Given the description of an element on the screen output the (x, y) to click on. 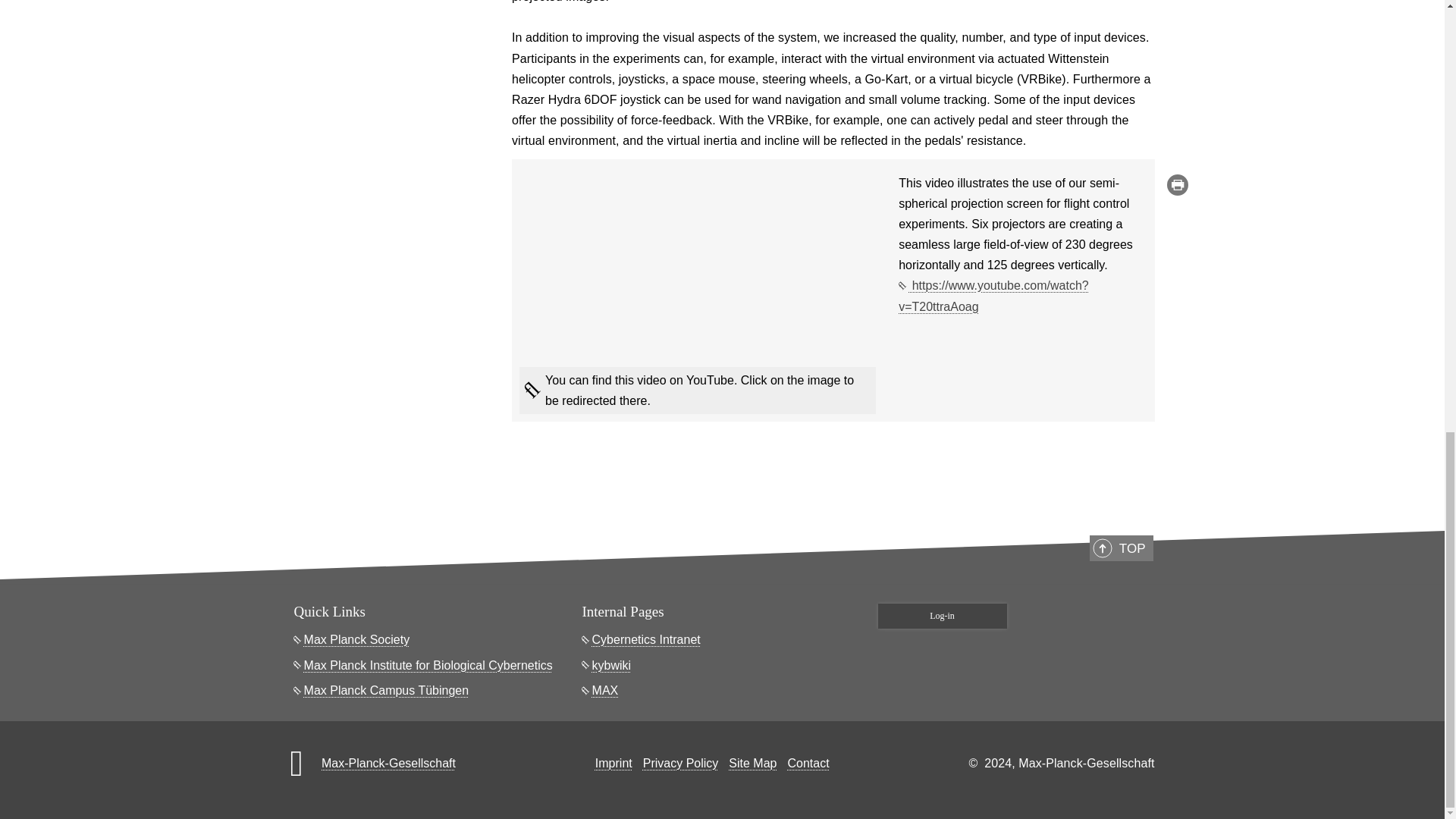
MAX (600, 690)
opens zoom view (389, 158)
Max-Planck-Gesellschaft (388, 762)
TOP (1121, 548)
Privacy Policy (681, 762)
Site Map (752, 762)
Contact (807, 762)
Cybernetics Intranet (641, 639)
opens zoom view (389, 20)
Max Planck Society (352, 639)
Log-in (942, 615)
Imprint (613, 762)
Max Planck Institute for Biological Cybernetics (423, 665)
kybwiki (606, 665)
